Given the description of an element on the screen output the (x, y) to click on. 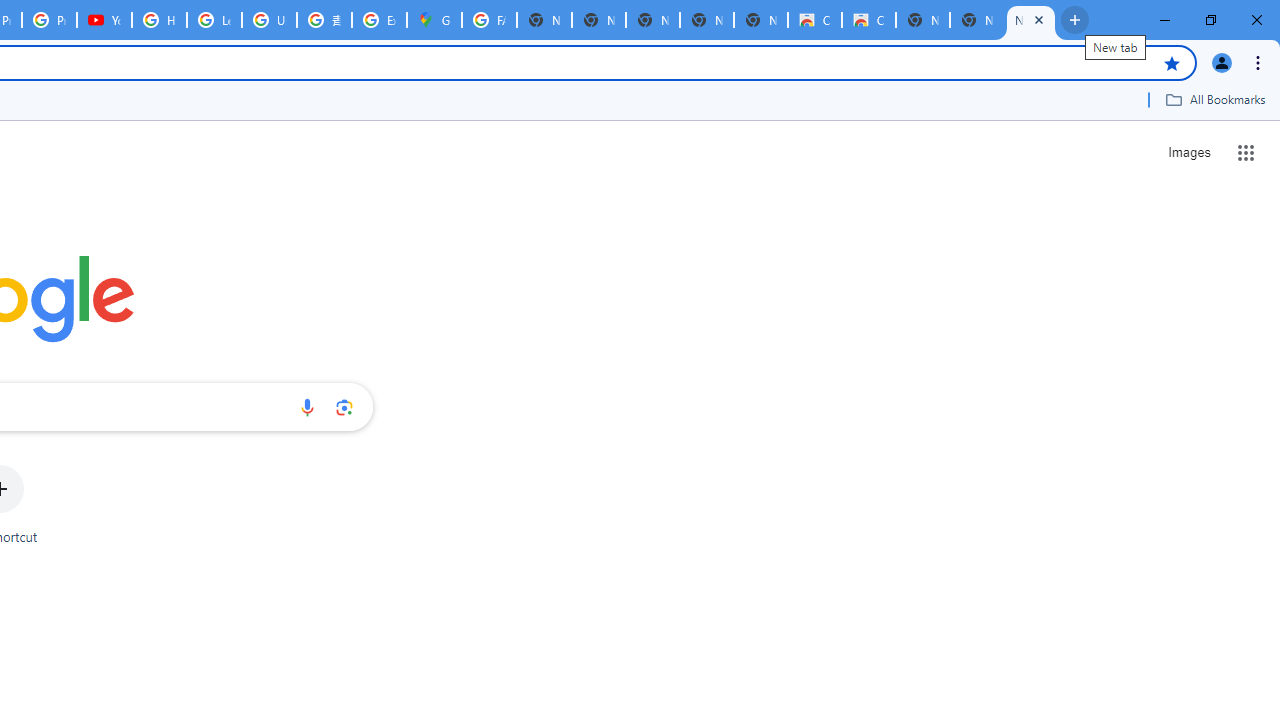
How Chrome protects your passwords - Google Chrome Help (158, 20)
New Tab (1030, 20)
Classic Blue - Chrome Web Store (815, 20)
Privacy Checkup (48, 20)
Google Maps (434, 20)
